Given the description of an element on the screen output the (x, y) to click on. 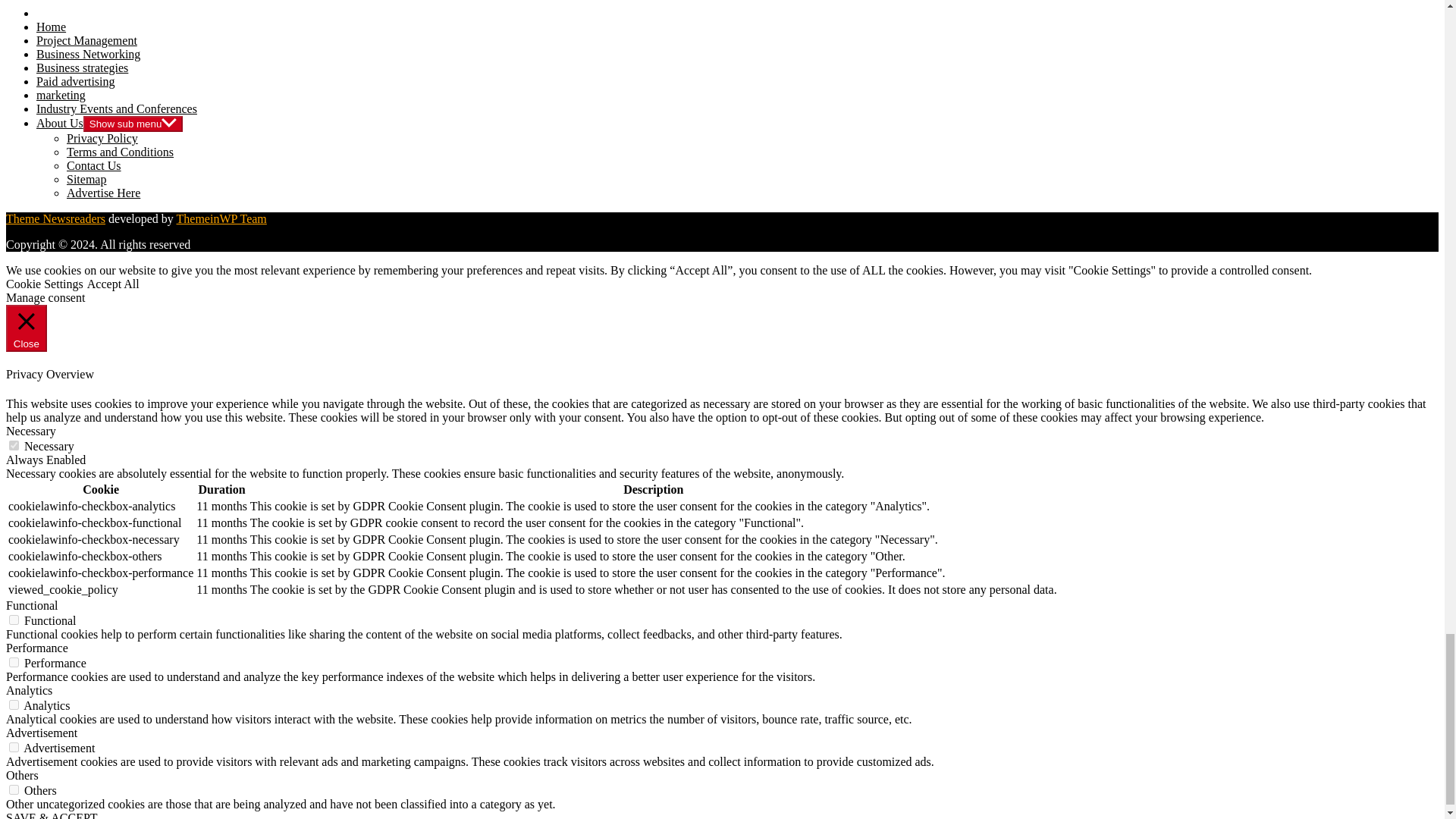
on (13, 705)
on (13, 747)
on (13, 662)
on (13, 789)
on (13, 619)
on (13, 445)
